Given the description of an element on the screen output the (x, y) to click on. 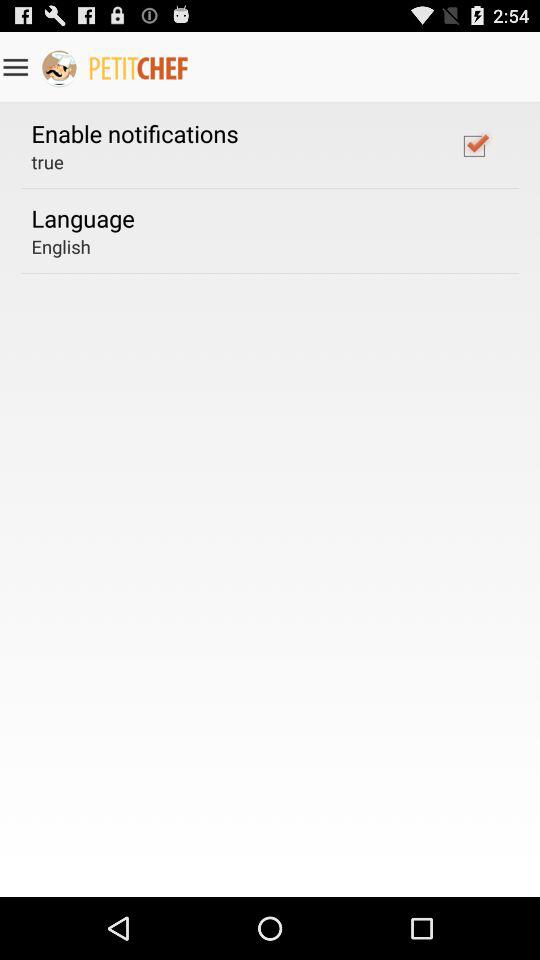
jump to the english app (60, 246)
